Given the description of an element on the screen output the (x, y) to click on. 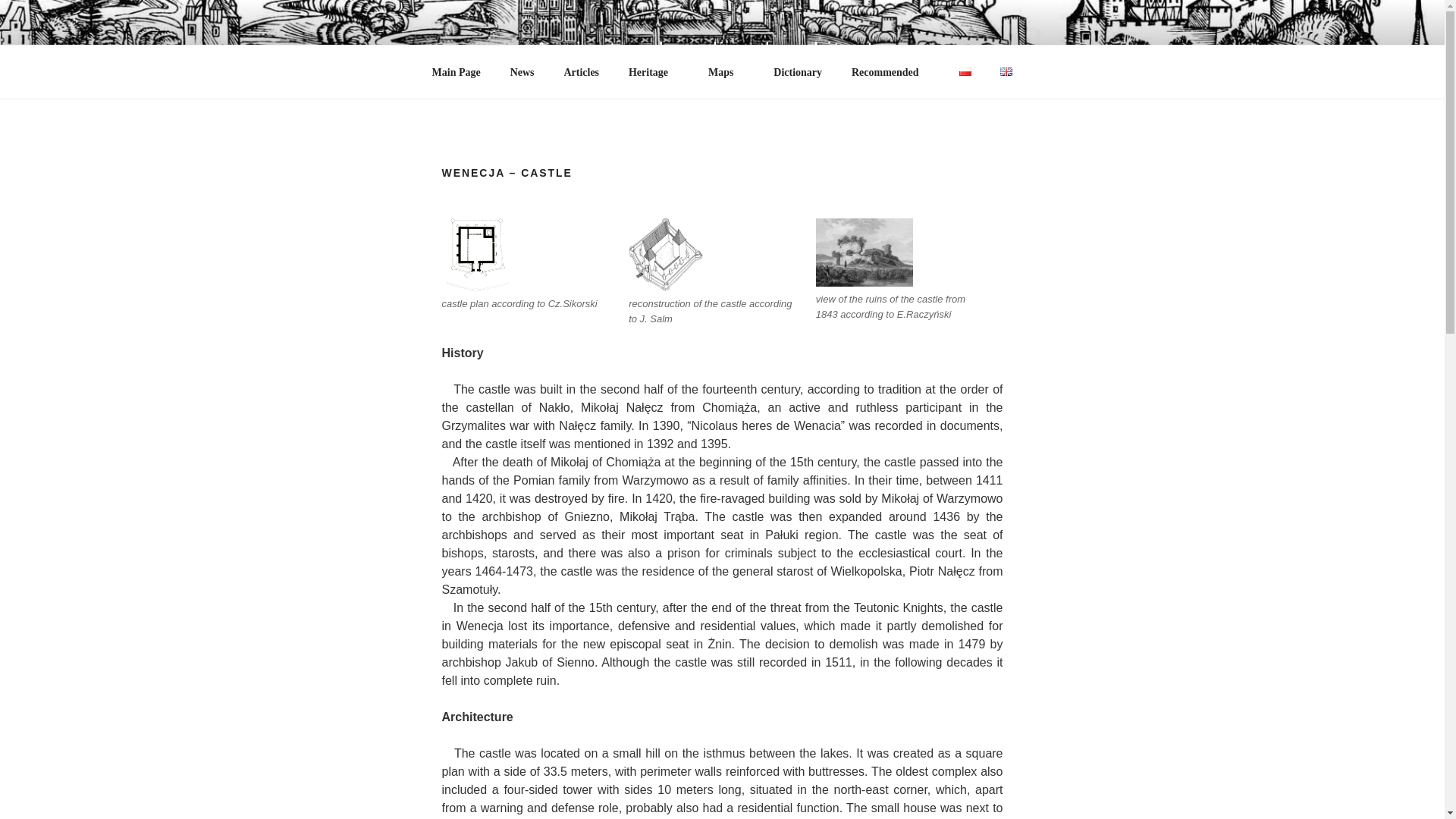
Polski (964, 128)
Maps (725, 129)
News (521, 129)
Dictionary (797, 129)
English (1005, 128)
Heritage (652, 129)
Ancient and medieval architecture (722, 49)
Main Page (456, 129)
Articles (581, 129)
Recommended (890, 129)
